Given the description of an element on the screen output the (x, y) to click on. 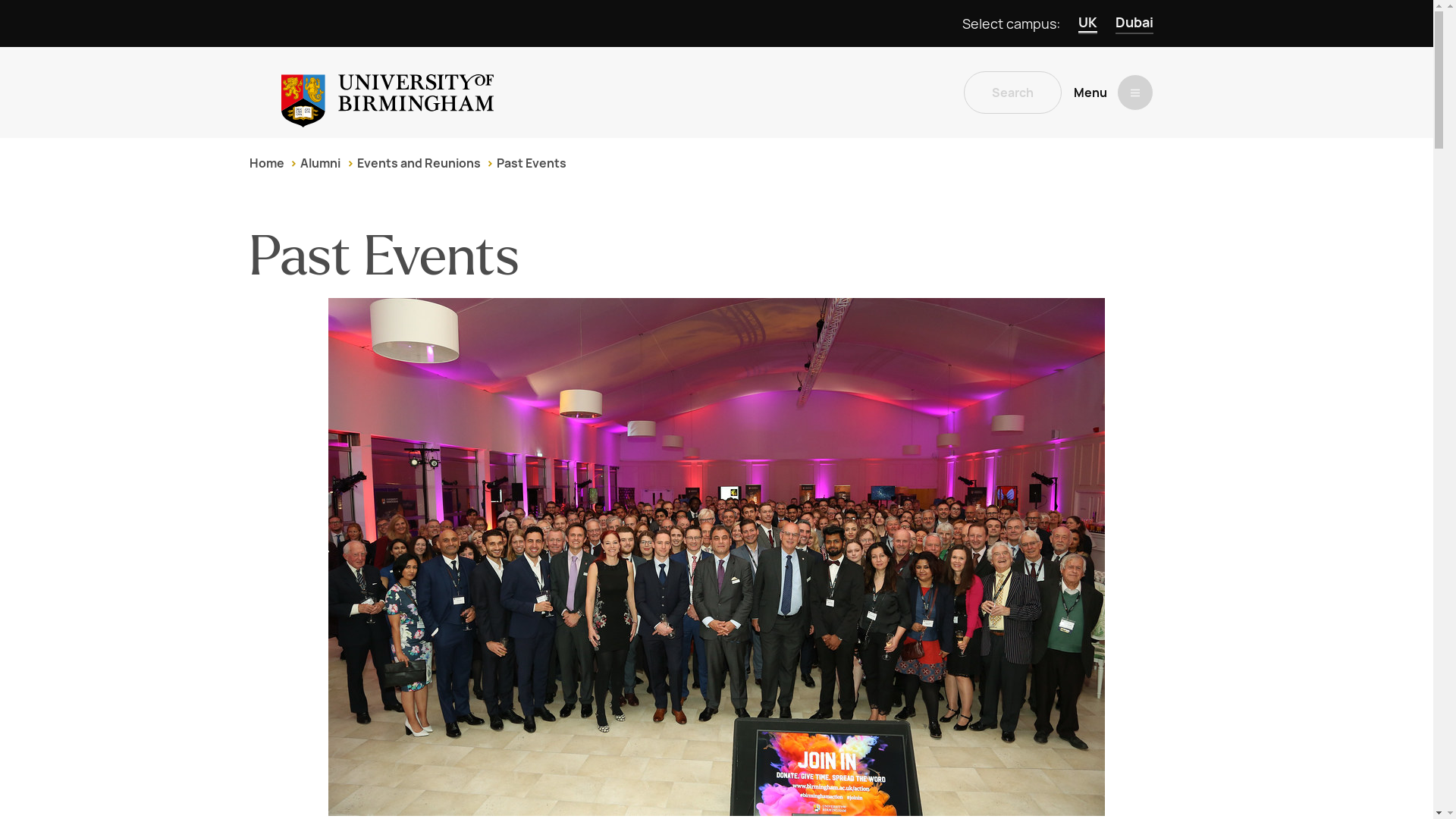
Home (265, 162)
UK (1087, 23)
Search (1012, 92)
Past Events (531, 162)
Events and Reunions (418, 162)
Alumni (319, 162)
Dubai (1134, 23)
